Given the description of an element on the screen output the (x, y) to click on. 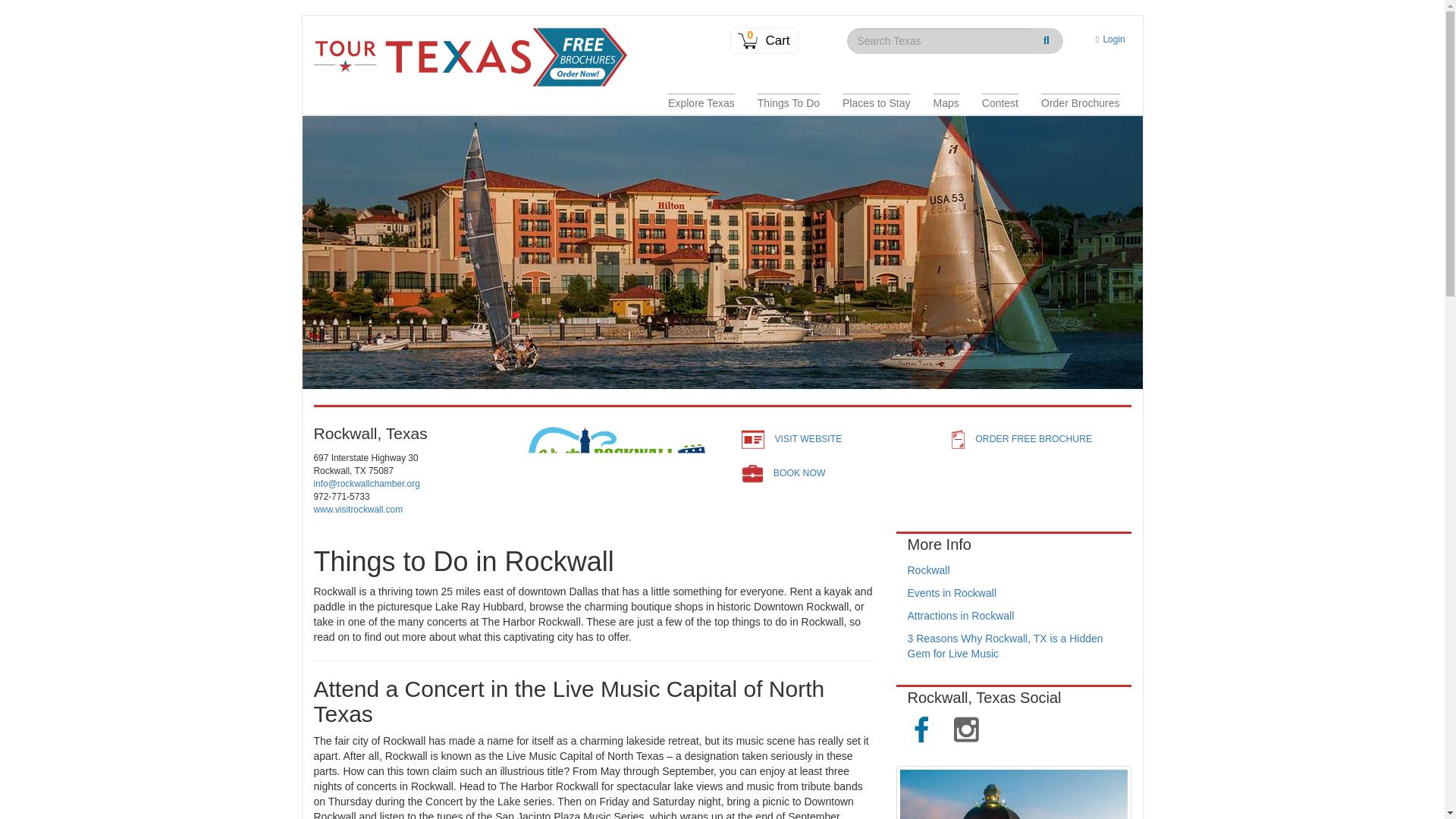
Things To Do (788, 102)
Maps (946, 102)
Login (1107, 39)
Places to Stay (876, 102)
Explore Texas (700, 102)
